Given the description of an element on the screen output the (x, y) to click on. 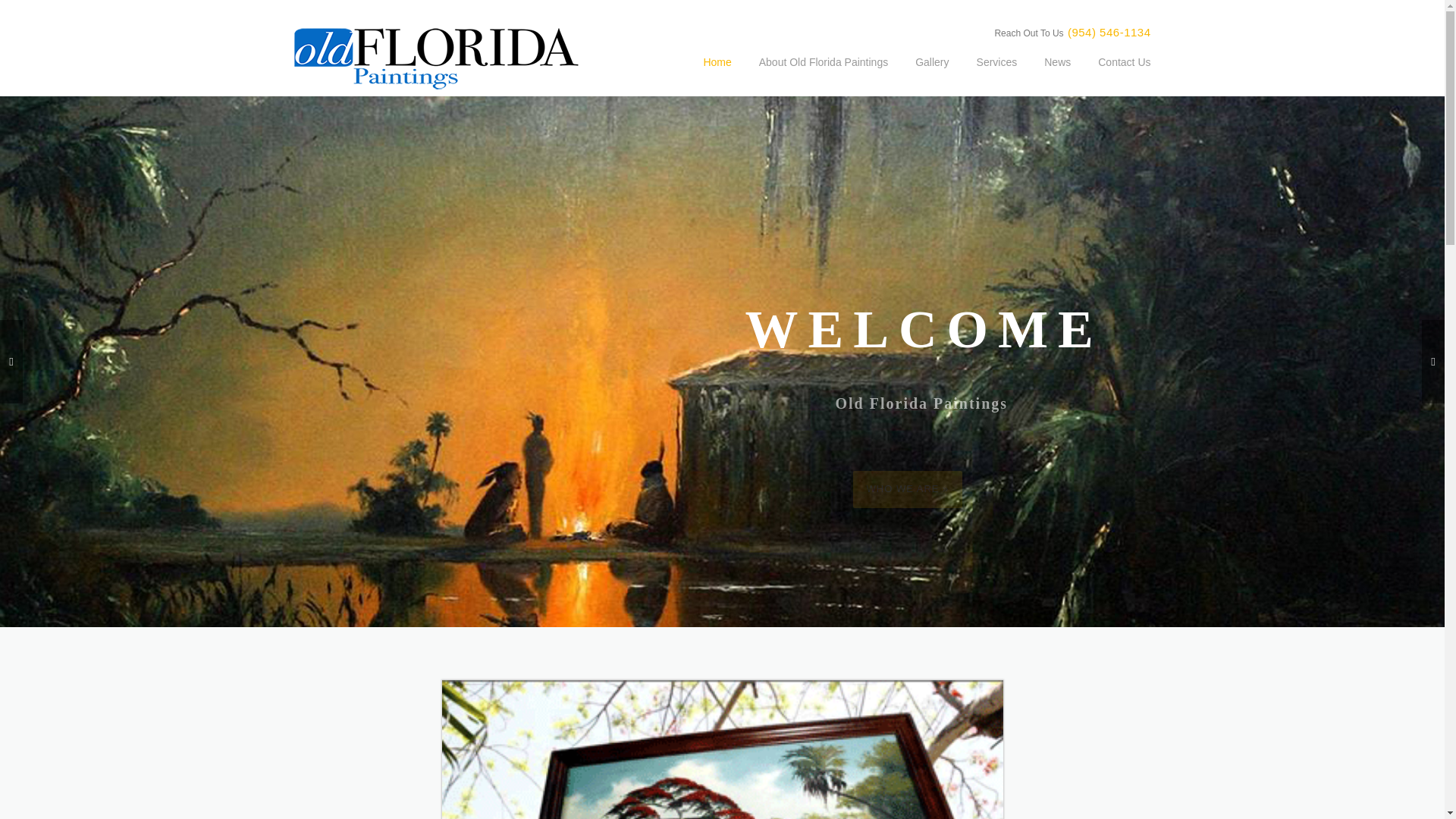
Services (996, 73)
About (722, 749)
News (1057, 73)
Gallery (931, 73)
Contact Us (1117, 73)
Home (716, 73)
About Old Florida Paintings (823, 73)
